Given the description of an element on the screen output the (x, y) to click on. 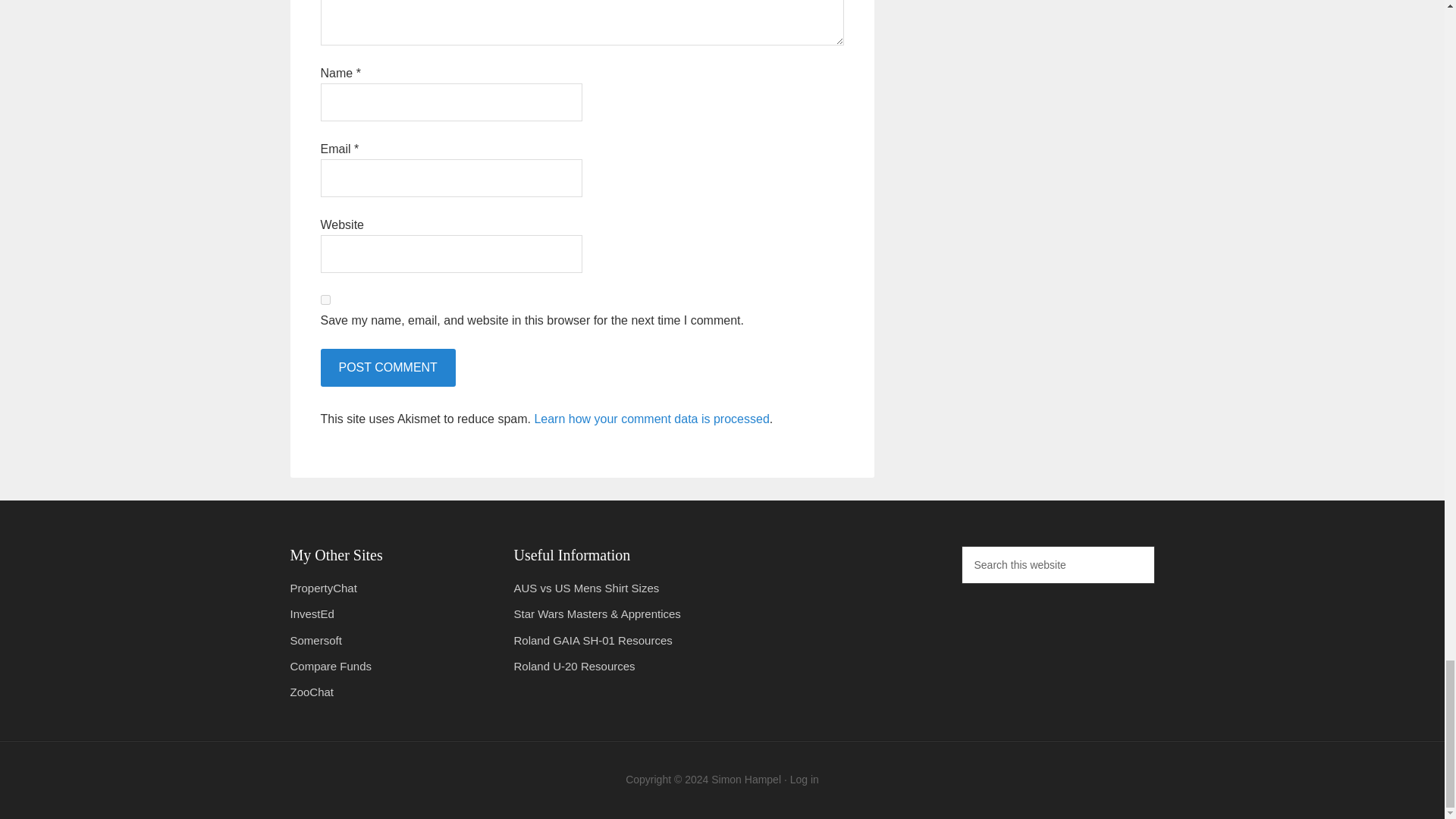
yes (325, 299)
Learn how your comment data is processed (651, 418)
Post Comment (387, 367)
Post Comment (387, 367)
